Given the description of an element on the screen output the (x, y) to click on. 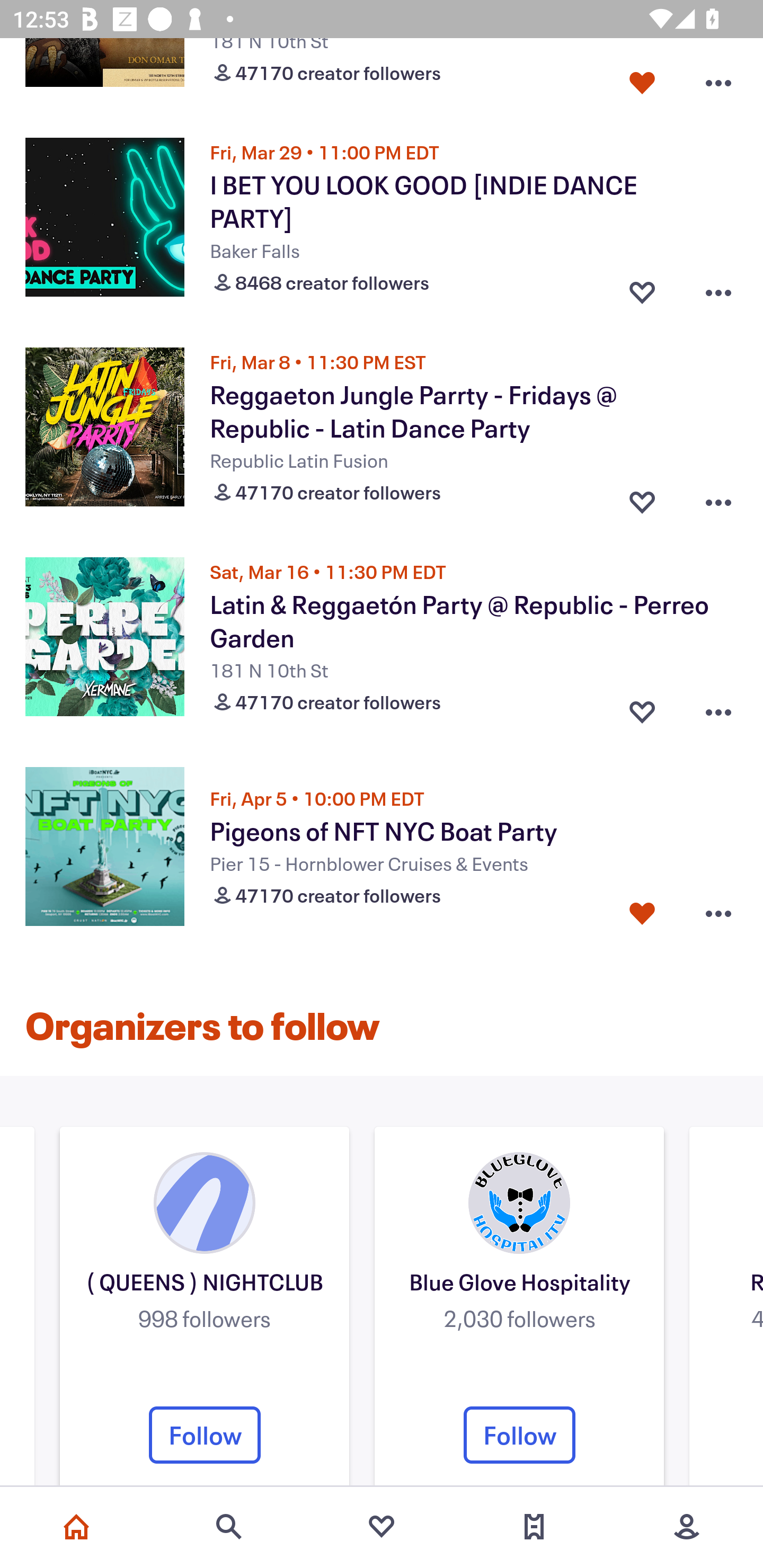
Favorite button (642, 78)
Overflow menu button (718, 78)
Favorite button (642, 287)
Overflow menu button (718, 287)
Favorite button (642, 497)
Overflow menu button (718, 497)
Favorite button (642, 707)
Overflow menu button (718, 707)
Favorite button (642, 912)
Overflow menu button (718, 912)
Follow Organizer's follow button (204, 1434)
Follow Organizer's follow button (519, 1434)
Home (76, 1526)
Search events (228, 1526)
Favorites (381, 1526)
Tickets (533, 1526)
More (686, 1526)
